Given the description of an element on the screen output the (x, y) to click on. 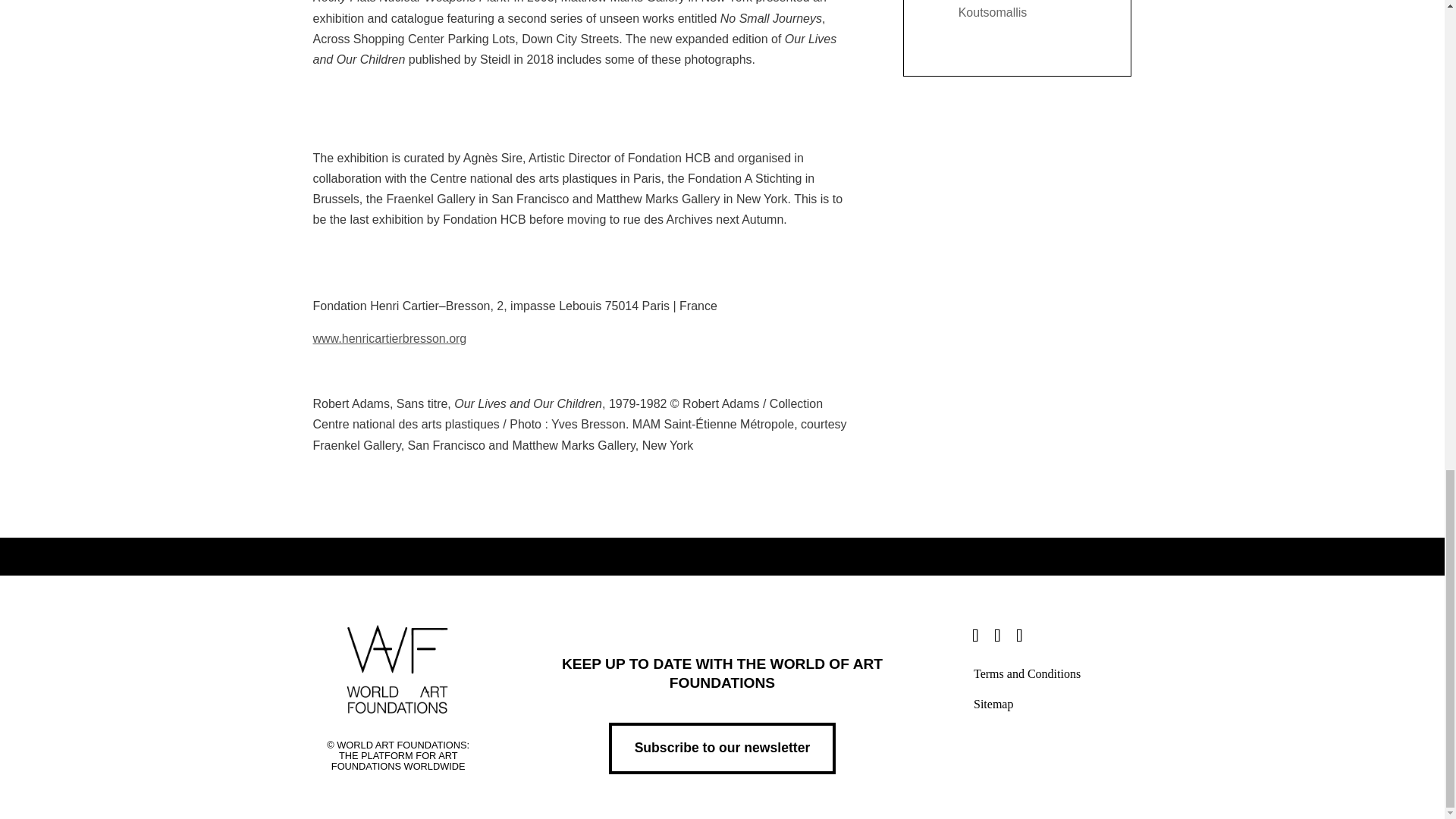
www.henricartierbresson.org (389, 338)
